Given the description of an element on the screen output the (x, y) to click on. 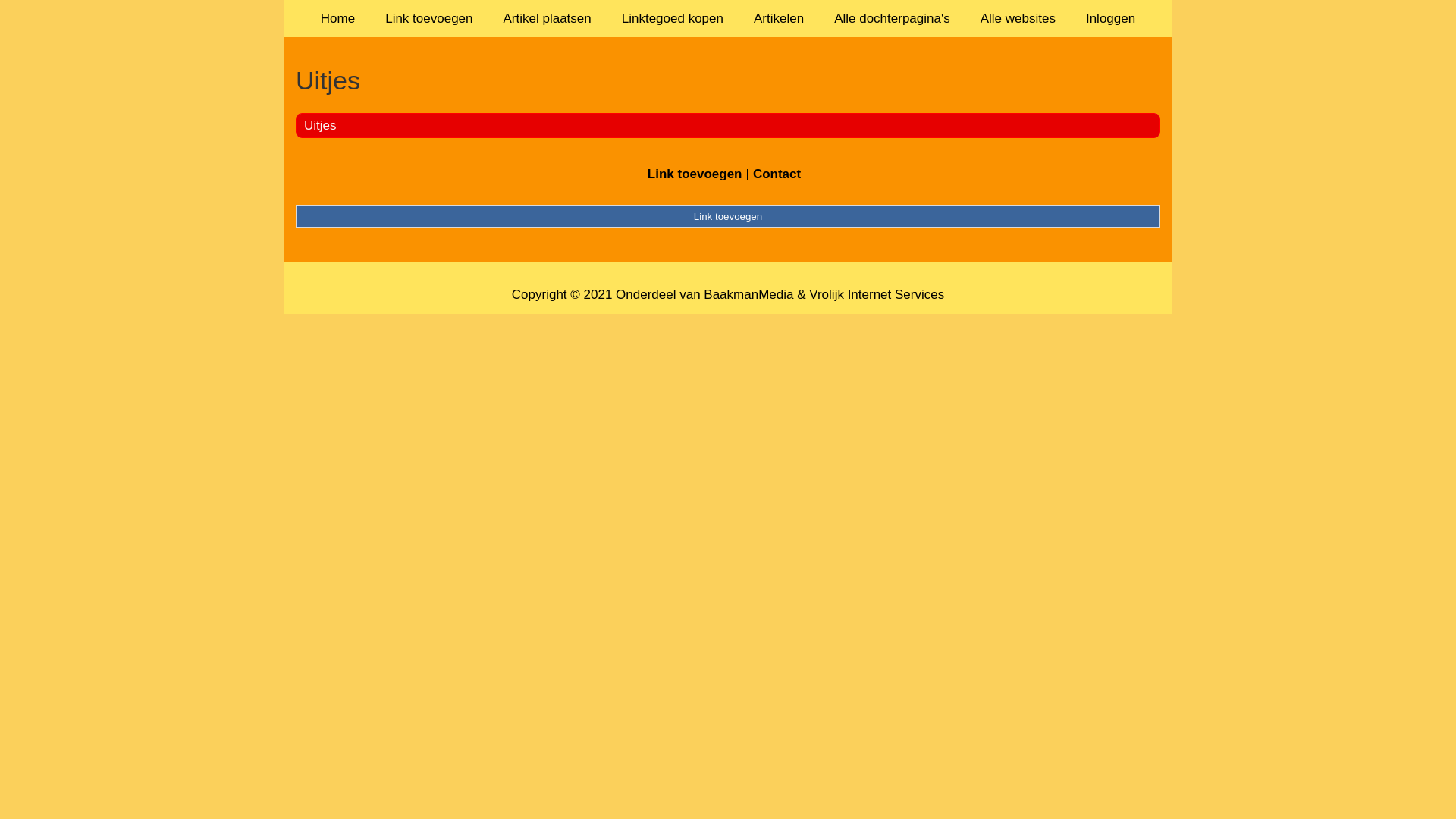
Uitjes Element type: text (320, 125)
Artikel plaatsen Element type: text (547, 18)
Contact Element type: text (776, 173)
Linktegoed kopen Element type: text (672, 18)
Uitjes Element type: text (727, 80)
Vrolijk Internet Services Element type: text (876, 294)
Inloggen Element type: text (1110, 18)
Alle dochterpagina's Element type: text (892, 18)
Artikelen Element type: text (778, 18)
Alle websites Element type: text (1017, 18)
Home Element type: text (337, 18)
BaakmanMedia Element type: text (748, 294)
Link toevoegen Element type: text (428, 18)
Link toevoegen Element type: text (727, 215)
Link toevoegen Element type: text (694, 173)
